Given the description of an element on the screen output the (x, y) to click on. 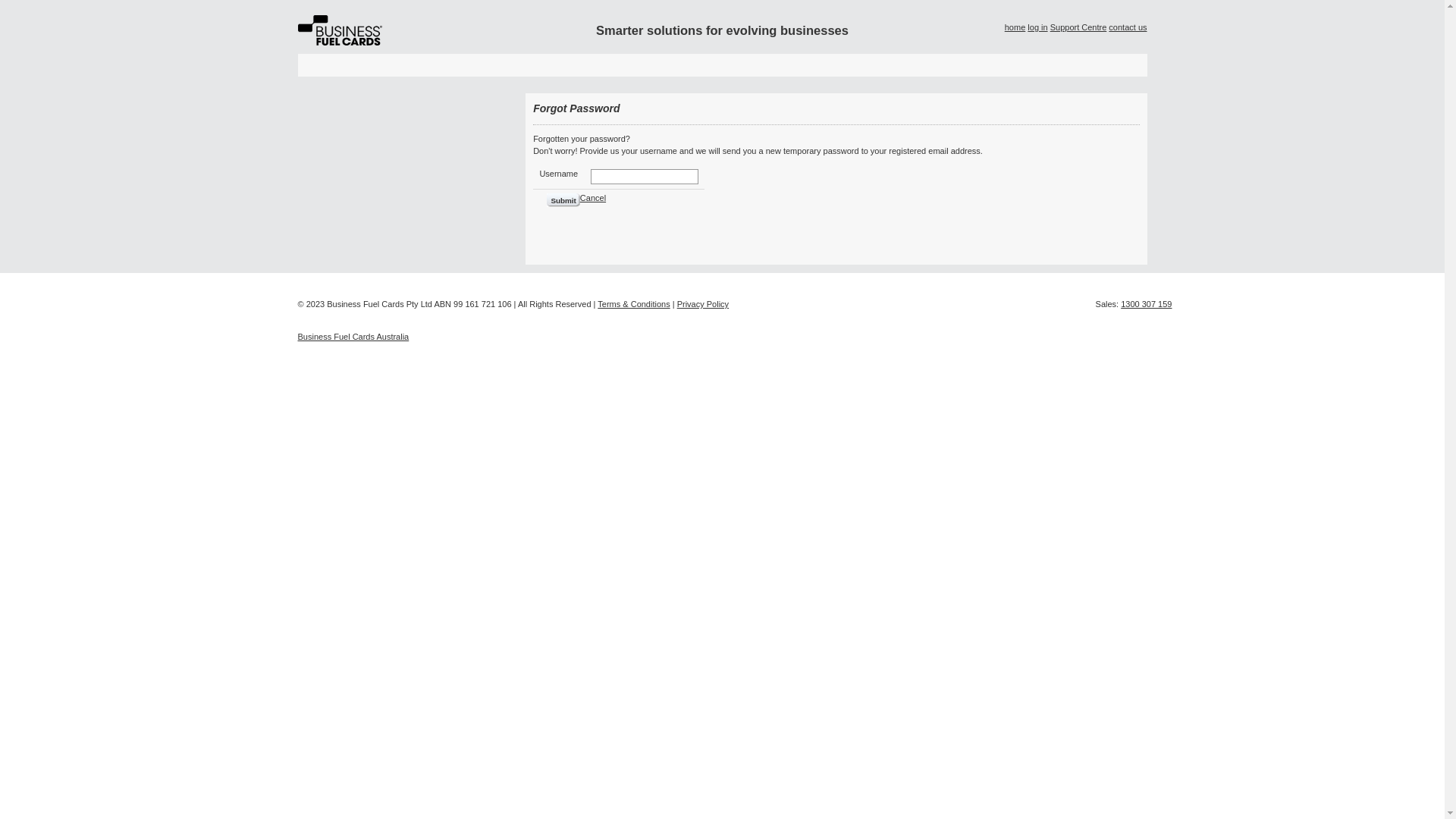
Terms & Conditions Element type: text (633, 303)
Submit Element type: text (562, 200)
Support Centre Element type: text (1078, 26)
log in Element type: text (1037, 26)
Privacy Policy Element type: text (702, 303)
contact us Element type: text (1127, 26)
home Element type: text (1015, 26)
Cancel Element type: text (592, 197)
1300 307 159 Element type: text (1145, 303)
Business Fuel Cards Australia Element type: text (352, 336)
